Given the description of an element on the screen output the (x, y) to click on. 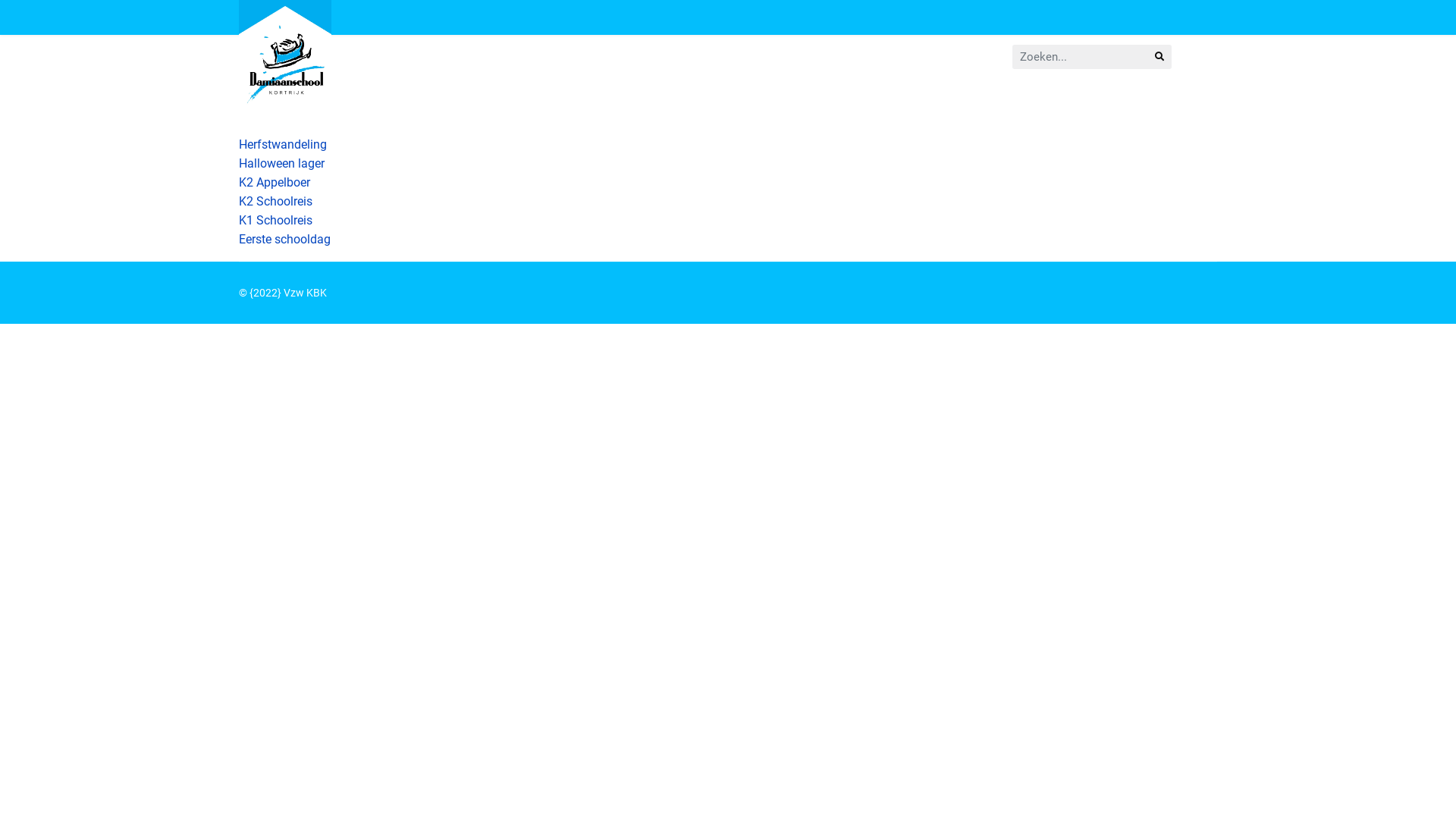
Halloween lager Element type: text (282, 172)
K2 Appelboer Element type: text (281, 191)
Herfstwandeling Element type: text (282, 144)
K2 Schoolreis Element type: text (275, 210)
K1 Schoolreis Element type: text (275, 229)
Eerste schooldag Element type: text (284, 248)
